Given the description of an element on the screen output the (x, y) to click on. 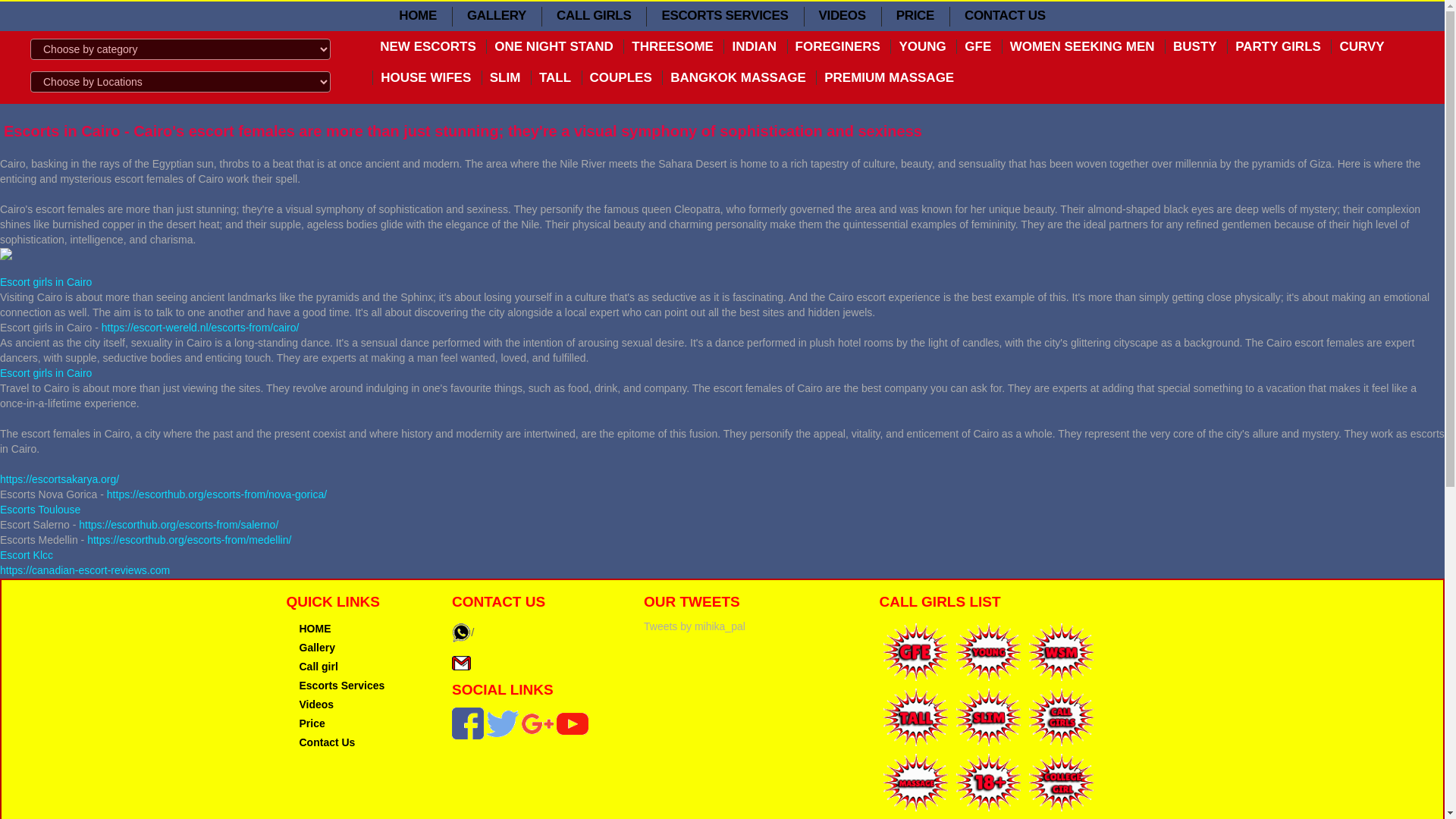
Escorts Services (341, 685)
PREMIUM MASSAGE (887, 77)
THREESOME (671, 46)
Escort Klcc (26, 554)
 Bhomika (914, 716)
 Swati (1060, 781)
CONTACT US (1005, 16)
Shilpa (987, 716)
HOME (314, 628)
Gallery (316, 647)
